Given the description of an element on the screen output the (x, y) to click on. 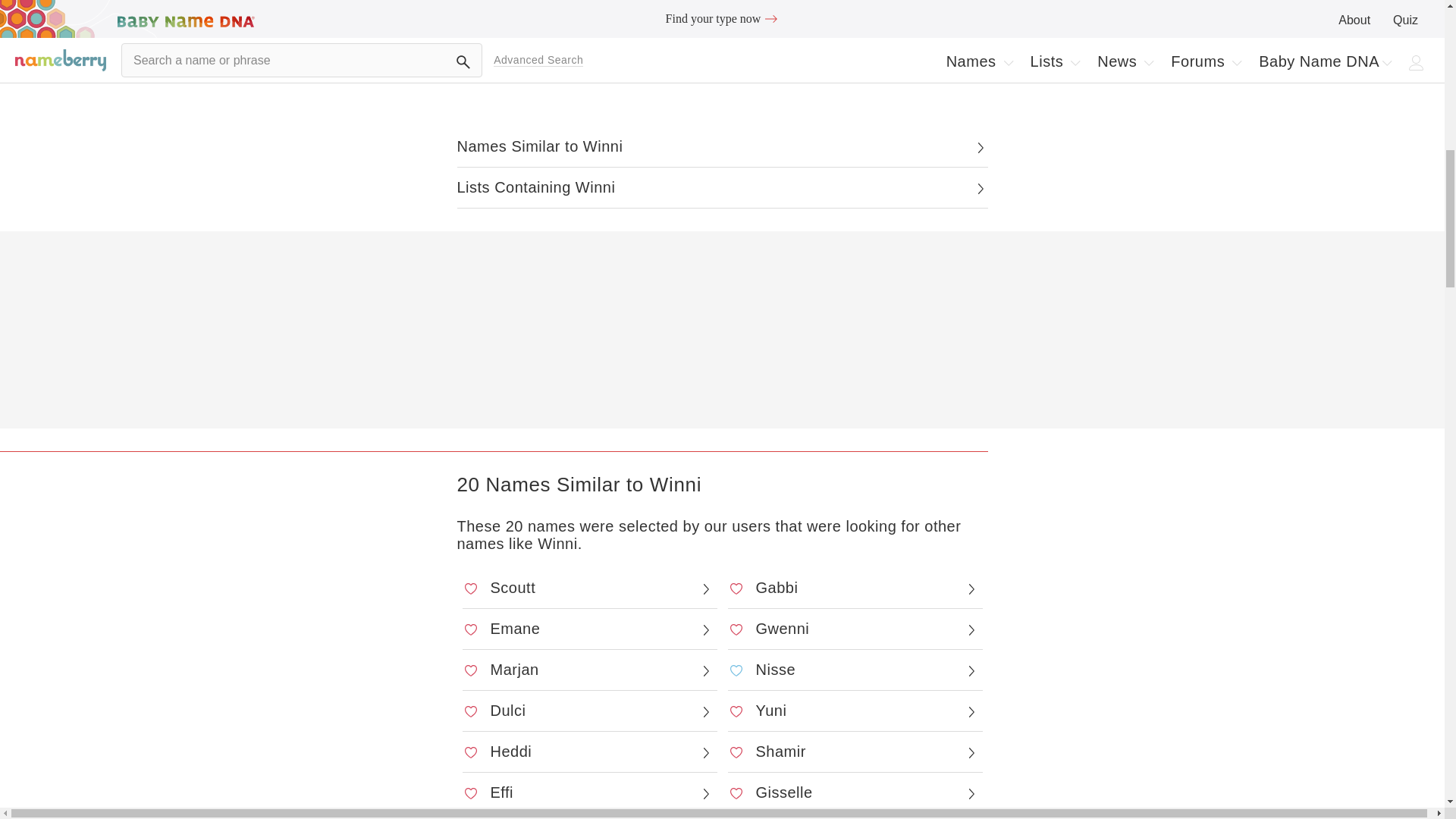
Chevron - Right (979, 188)
HEART (735, 588)
Chevron - Right (979, 147)
HEART (470, 588)
Chevron - Right (705, 589)
Chevron - Right (970, 589)
3rd party ad content (721, 333)
